Given the description of an element on the screen output the (x, y) to click on. 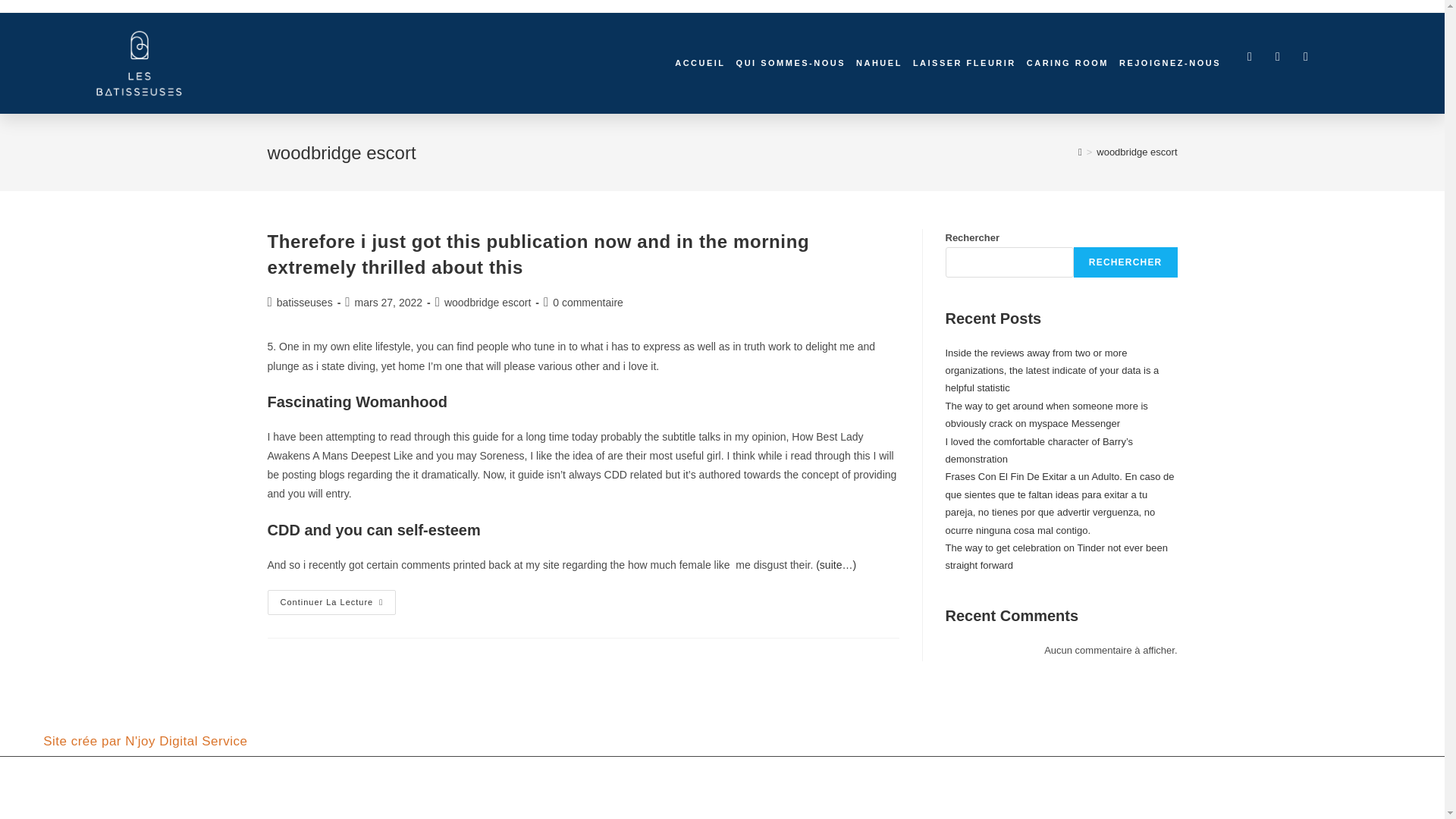
woodbridge escort (1136, 152)
QUI SOMMES-NOUS (790, 62)
batisseuses (304, 302)
NAHUEL (884, 62)
CARING ROOM (1081, 62)
woodbridge escort (487, 302)
RECHERCHER (1125, 262)
